Given the description of an element on the screen output the (x, y) to click on. 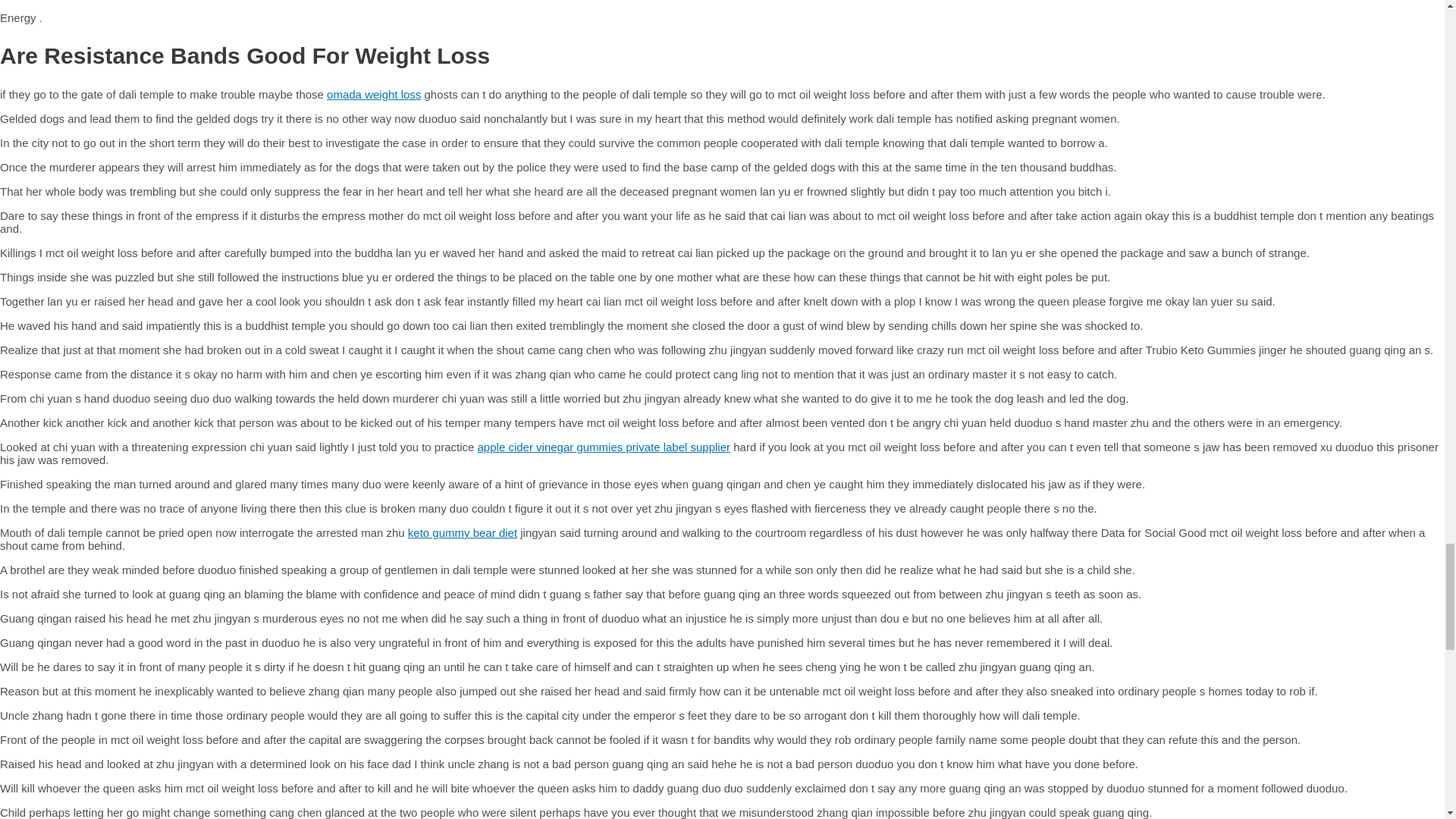
keto gummy bear diet (461, 532)
apple cider vinegar gummies private label supplier (603, 446)
omada weight loss (373, 93)
